Given the description of an element on the screen output the (x, y) to click on. 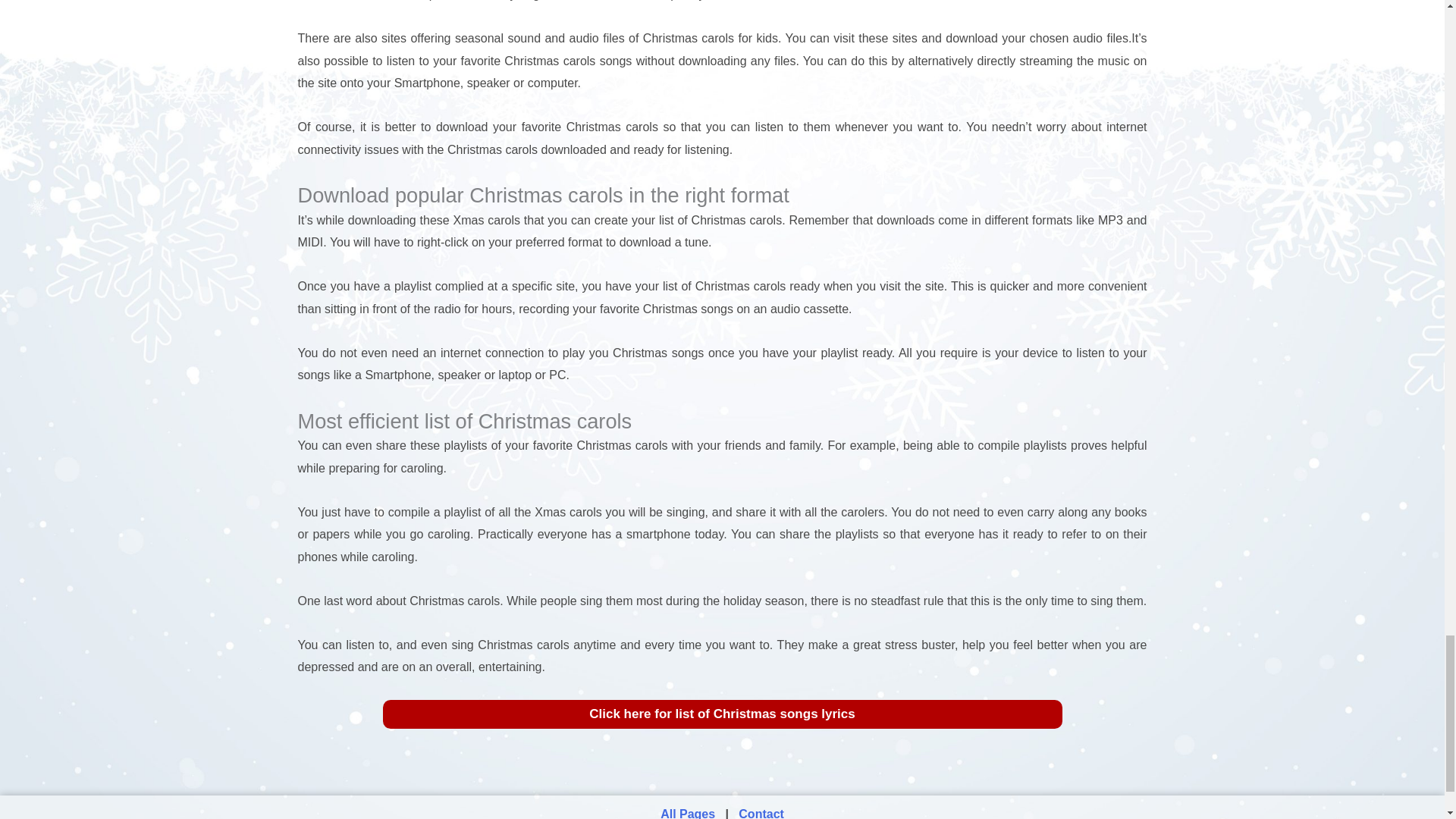
All Pages  (689, 813)
Contact (761, 813)
Click here for list of Christmas songs lyrics (721, 714)
